Given the description of an element on the screen output the (x, y) to click on. 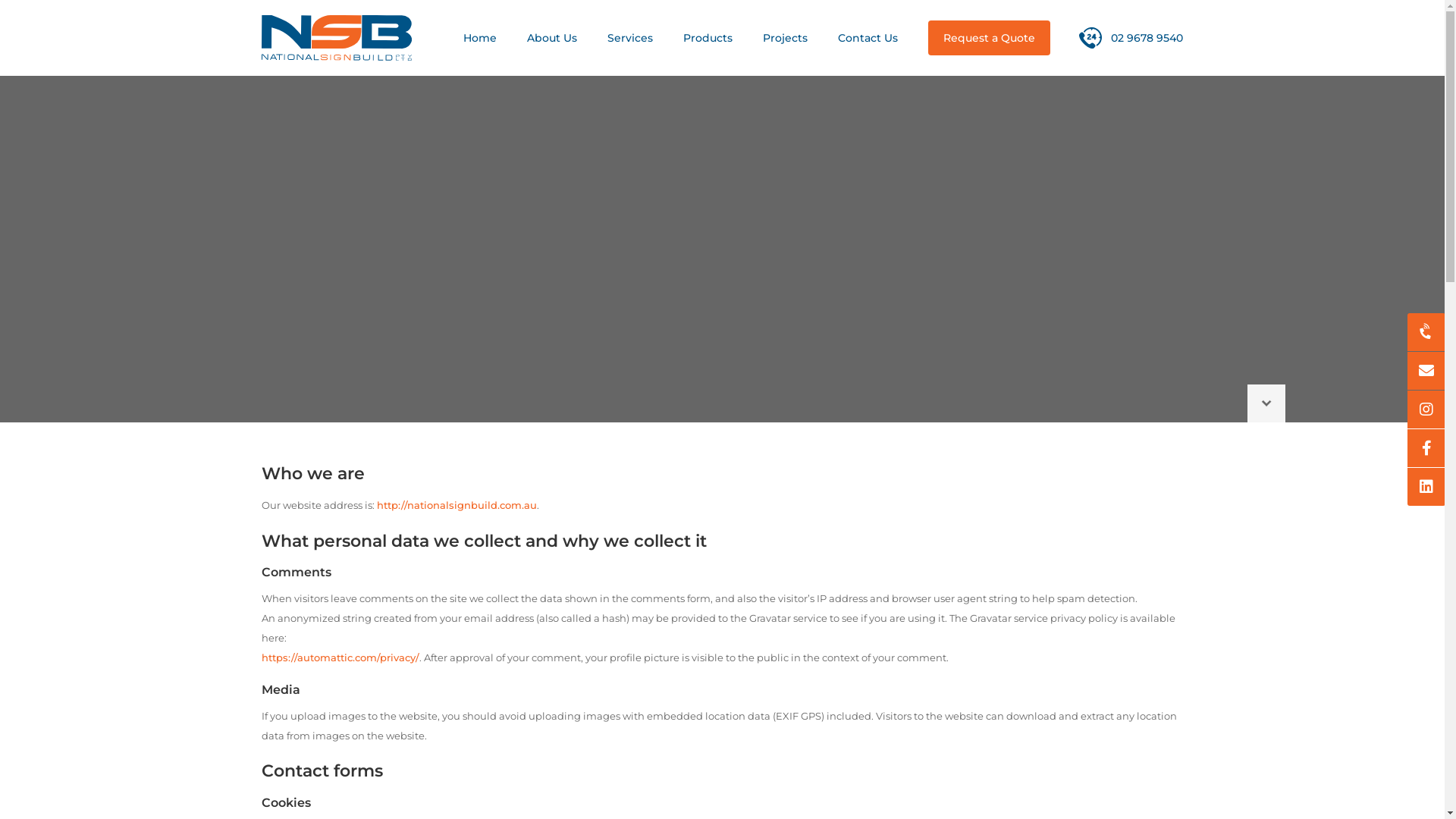
   02 9678 9540 Element type: text (1131, 37)
https://automattic.com/privacy/ Element type: text (340, 657)
Services Element type: text (629, 37)
http://nationalsignbuild.com.au Element type: text (456, 504)
About Us Element type: text (552, 37)
National Sign Build - The Sign Professionals Element type: hover (336, 37)
Projects Element type: text (784, 37)
Products Element type: text (707, 37)
Contact Us Element type: text (867, 37)
Request a Quote Element type: text (989, 37)
Home Element type: text (479, 37)
